Given the description of an element on the screen output the (x, y) to click on. 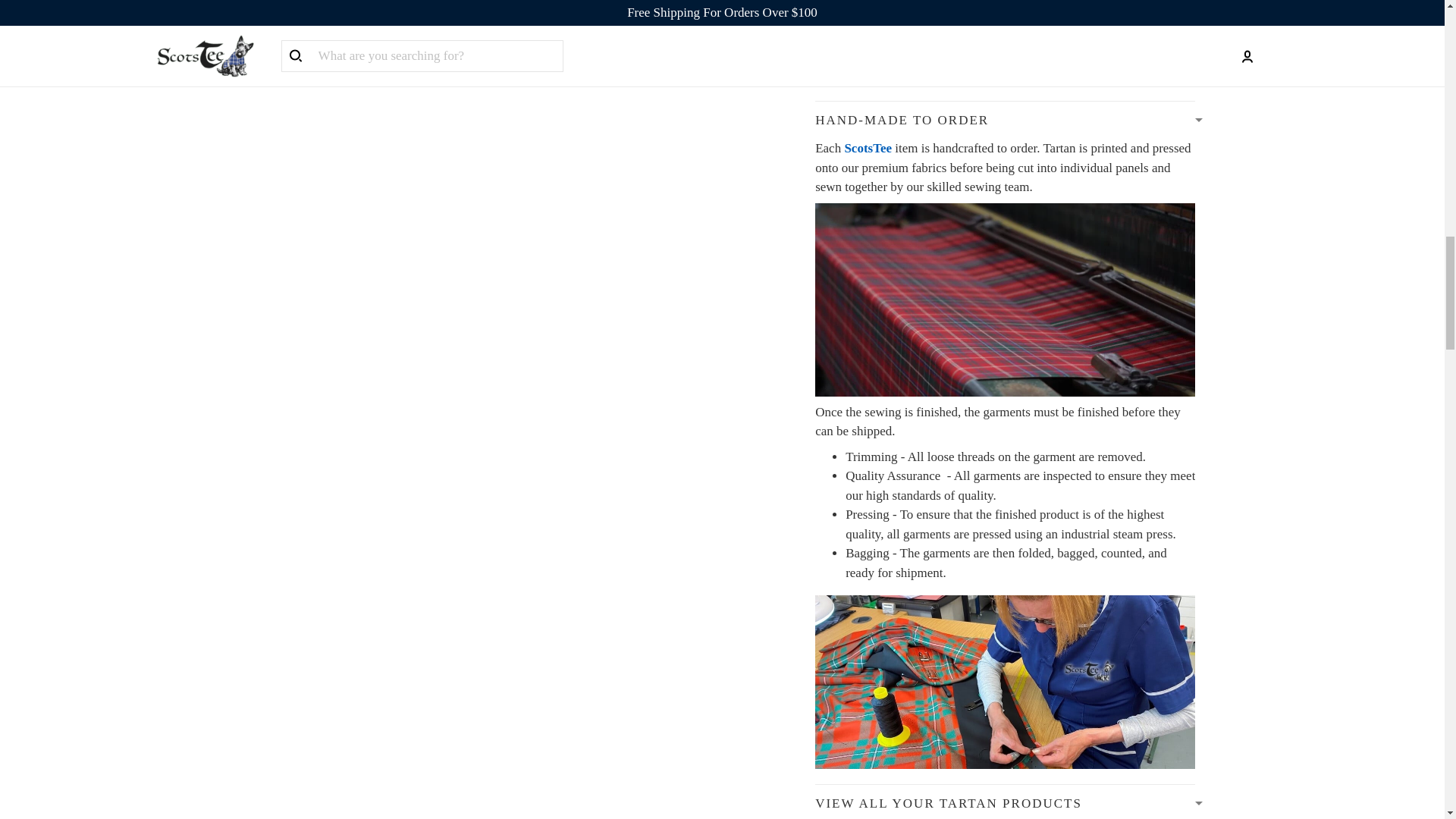
Click here (891, 74)
ScotsTee (867, 147)
Click here (1012, 56)
